Given the description of an element on the screen output the (x, y) to click on. 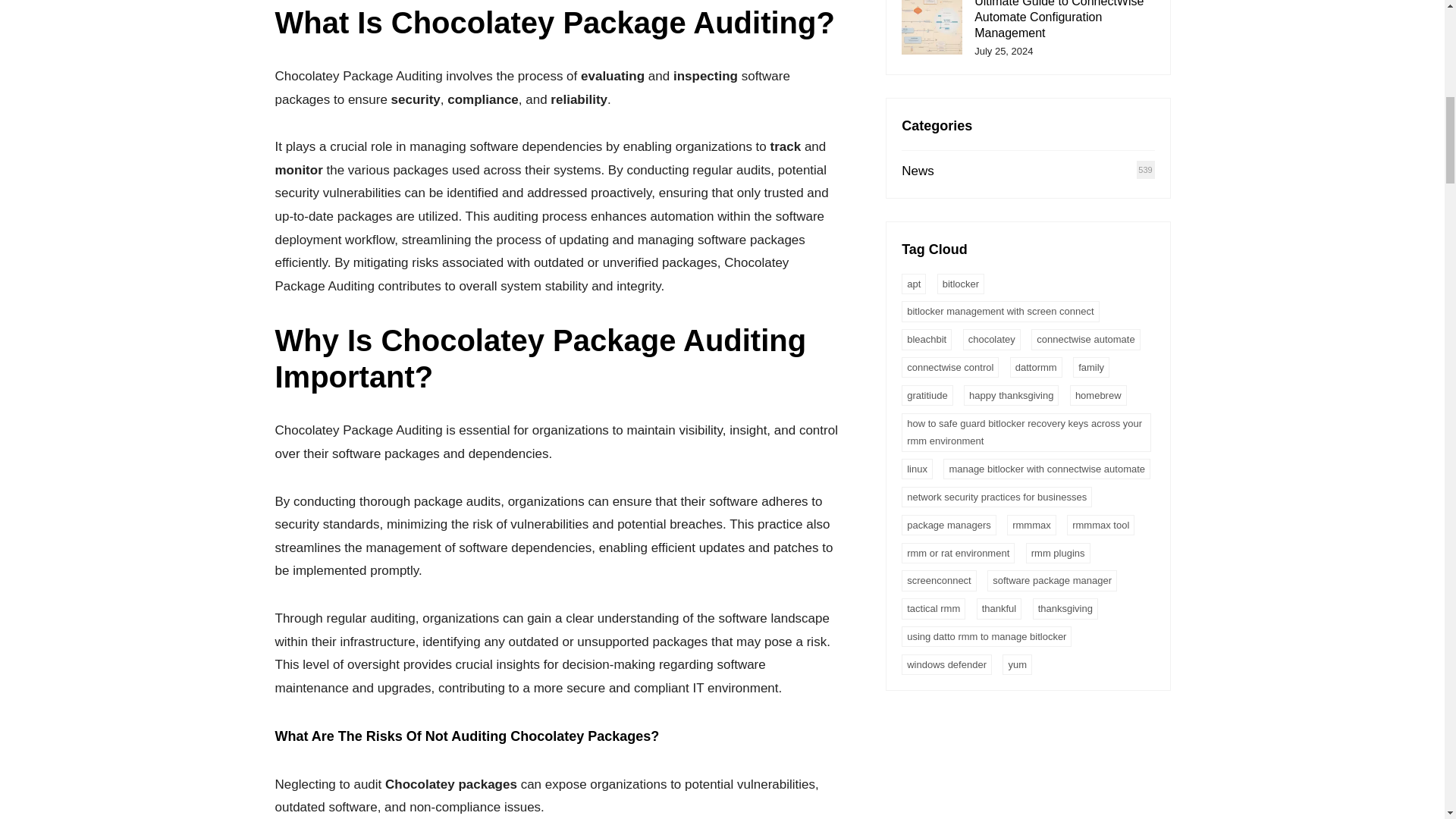
News (917, 170)
bitlocker (960, 283)
bleachbit (926, 339)
dattormm (1036, 367)
family (1091, 367)
chocolatey (991, 339)
apt (913, 283)
connectwise control (949, 367)
connectwise automate (1085, 339)
bitlocker management with screen connect (1000, 311)
